Given the description of an element on the screen output the (x, y) to click on. 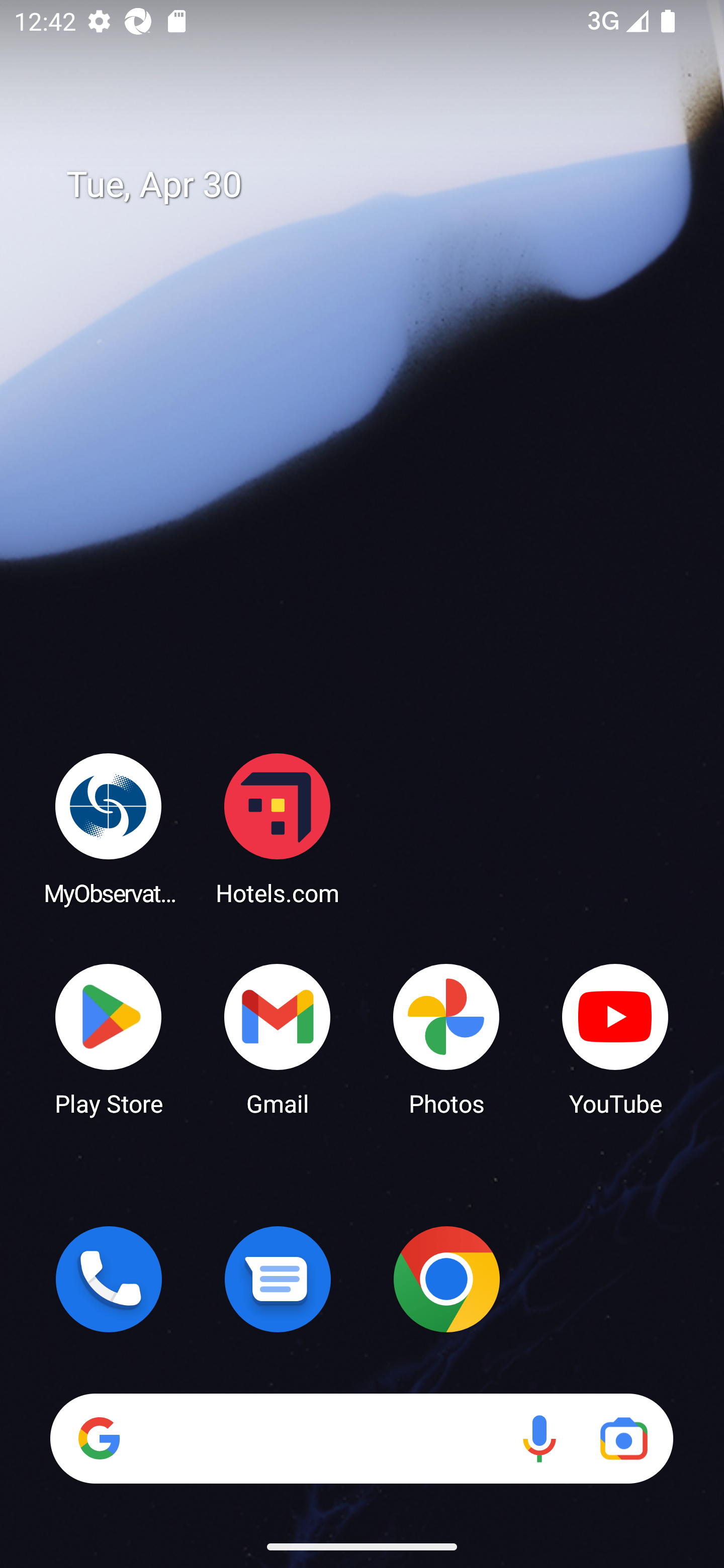
Tue, Apr 30 (375, 184)
MyObservatory (108, 828)
Hotels.com (277, 828)
Play Store (108, 1038)
Gmail (277, 1038)
Photos (445, 1038)
YouTube (615, 1038)
Phone (108, 1279)
Messages (277, 1279)
Chrome (446, 1279)
Voice search (539, 1438)
Google Lens (623, 1438)
